Given the description of an element on the screen output the (x, y) to click on. 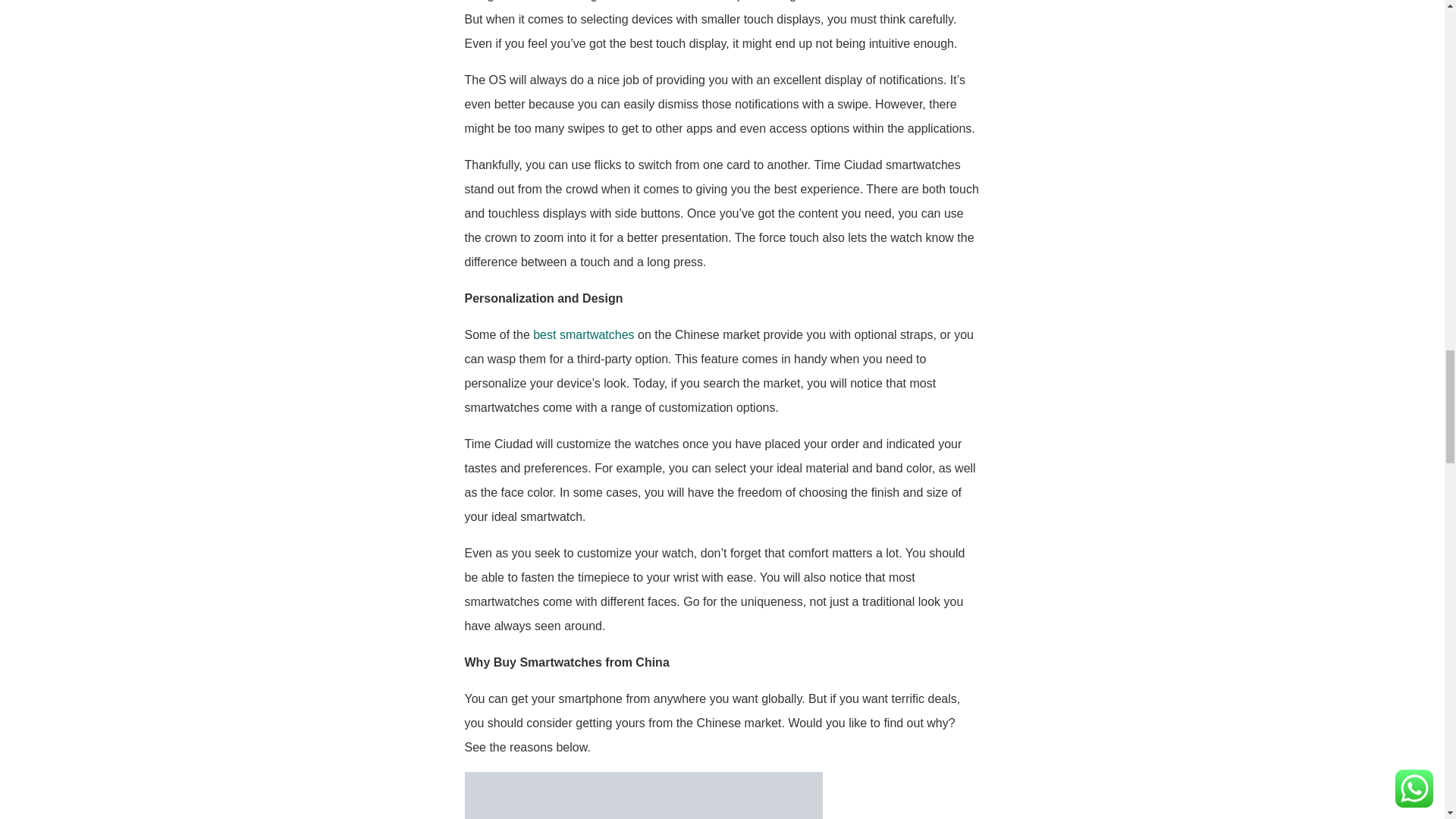
best smartwatches (582, 334)
